Given the description of an element on the screen output the (x, y) to click on. 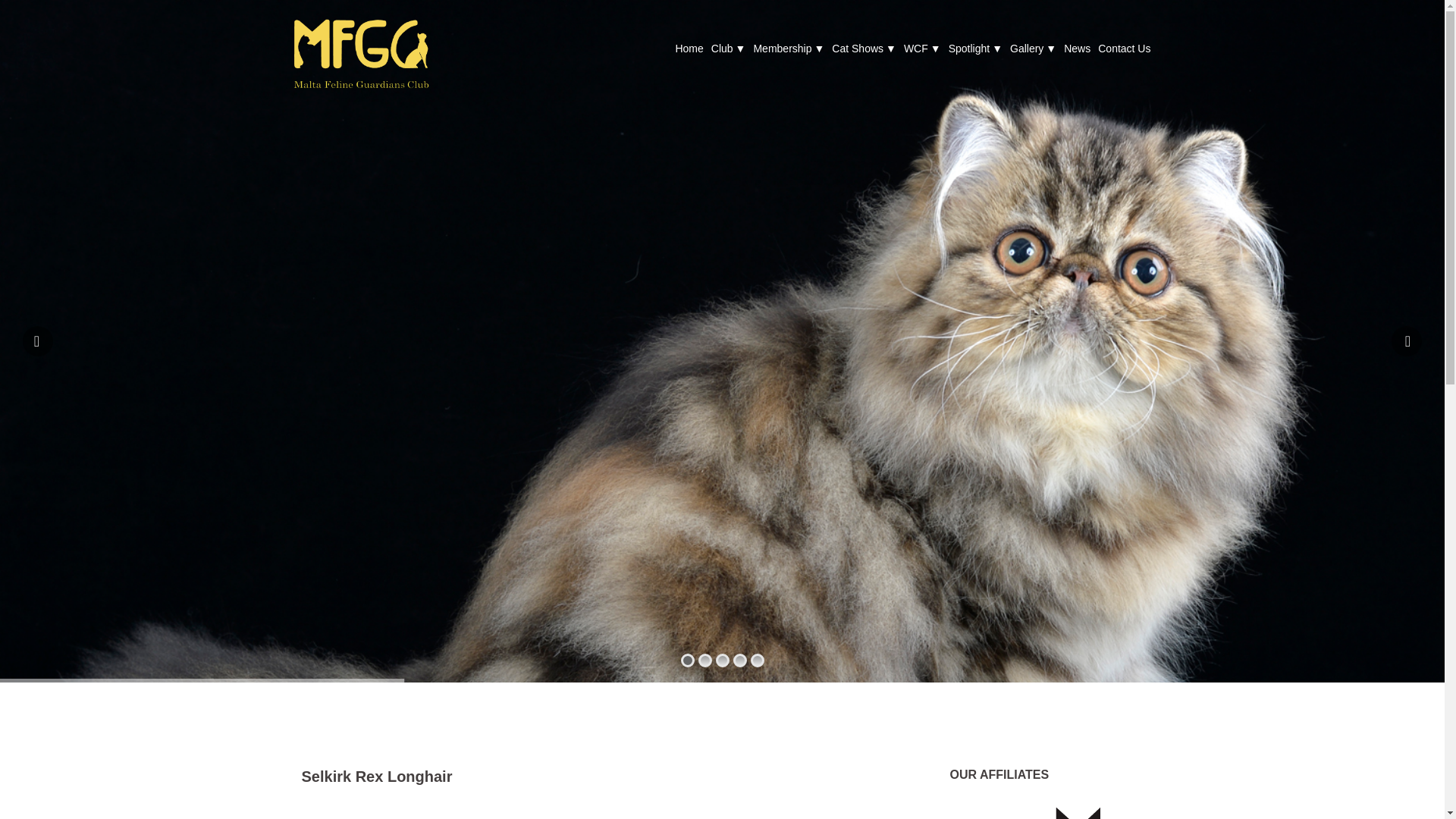
Cat Shows (863, 48)
Club (728, 48)
Home (689, 48)
Membership (788, 48)
Malta Cat Shows (359, 51)
